Given the description of an element on the screen output the (x, y) to click on. 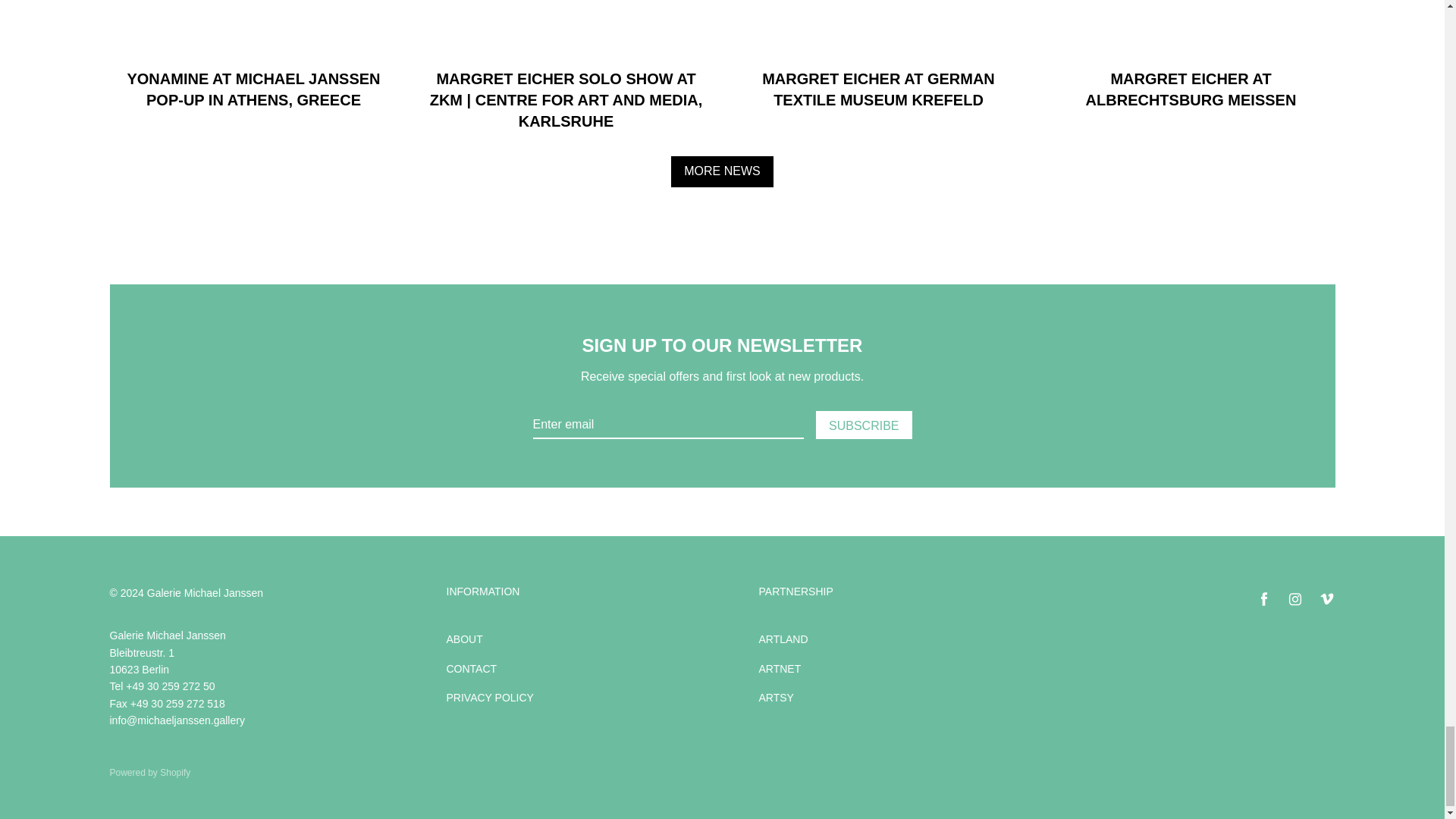
Galerie Michael Janssen on Vimeo (1326, 599)
Galerie Michael Janssen on Instagram (1295, 599)
Galerie Michael Janssen on Facebook (1263, 599)
